Given the description of an element on the screen output the (x, y) to click on. 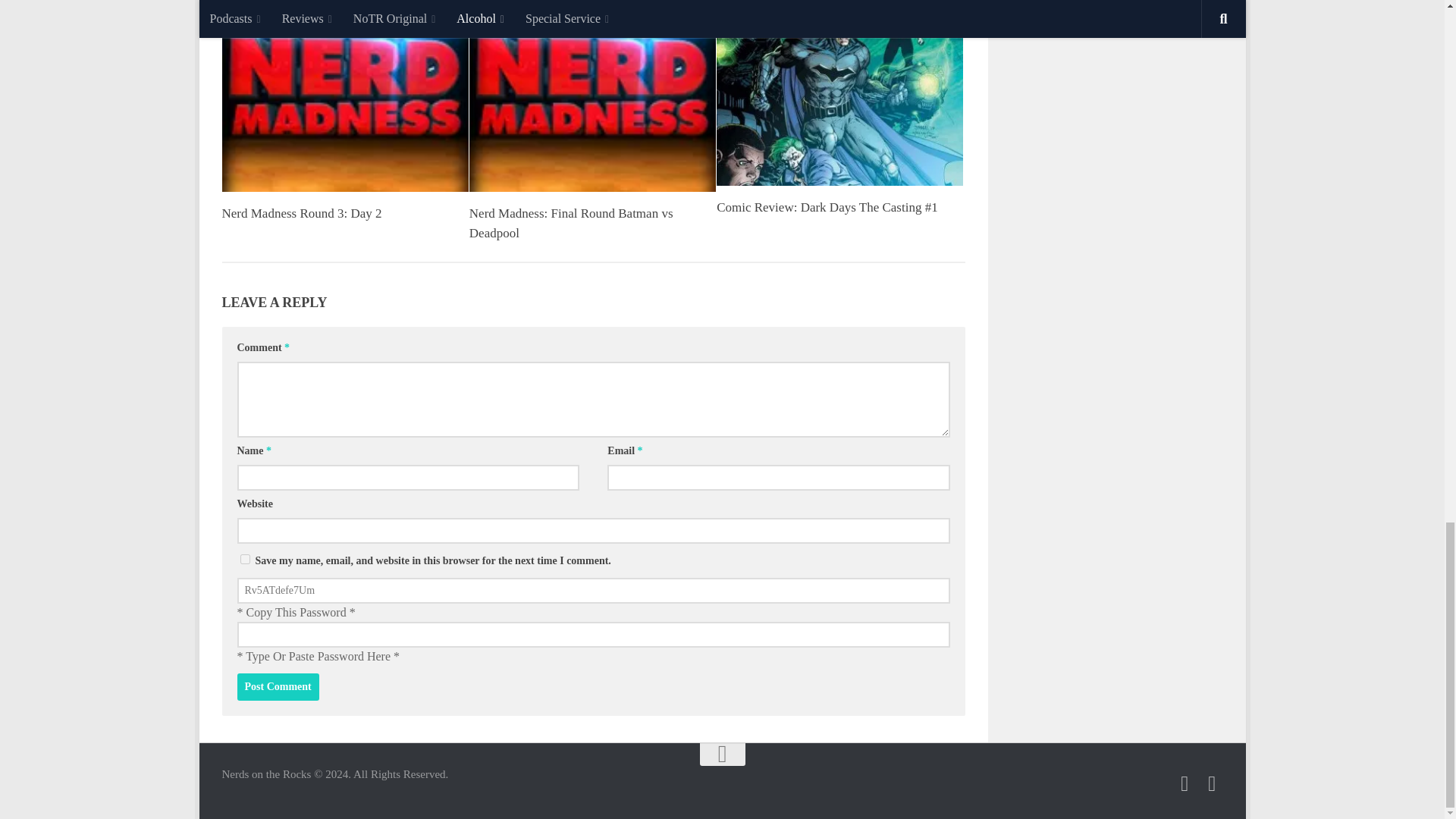
Follow us on Facebook-square (1212, 783)
yes (244, 559)
Post Comment (276, 687)
Rv5ATdefe7Um (592, 590)
Follow us on Twitter-square (1184, 783)
